Given the description of an element on the screen output the (x, y) to click on. 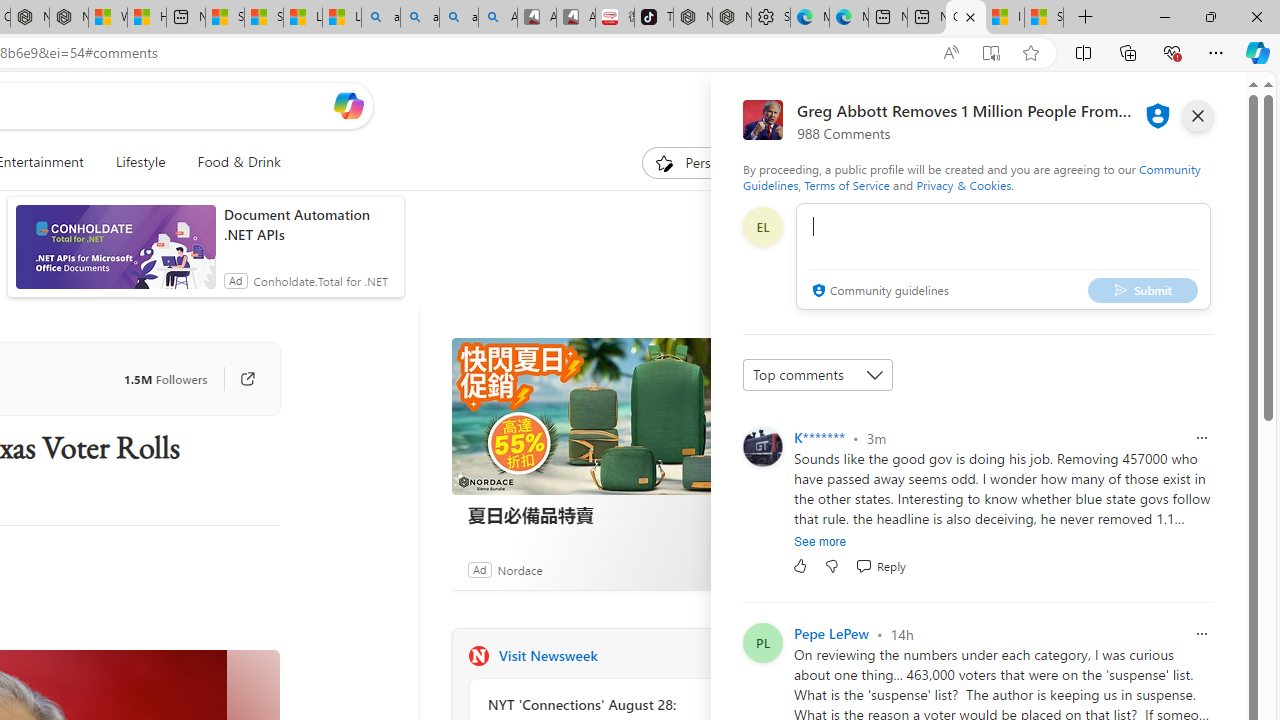
Privacy & Cookies (964, 184)
Visit Newsweek website (726, 655)
Report comment (1201, 633)
Profile Picture (762, 446)
Terms of Service (846, 184)
K******* (819, 437)
Personalize (703, 162)
